Given the description of an element on the screen output the (x, y) to click on. 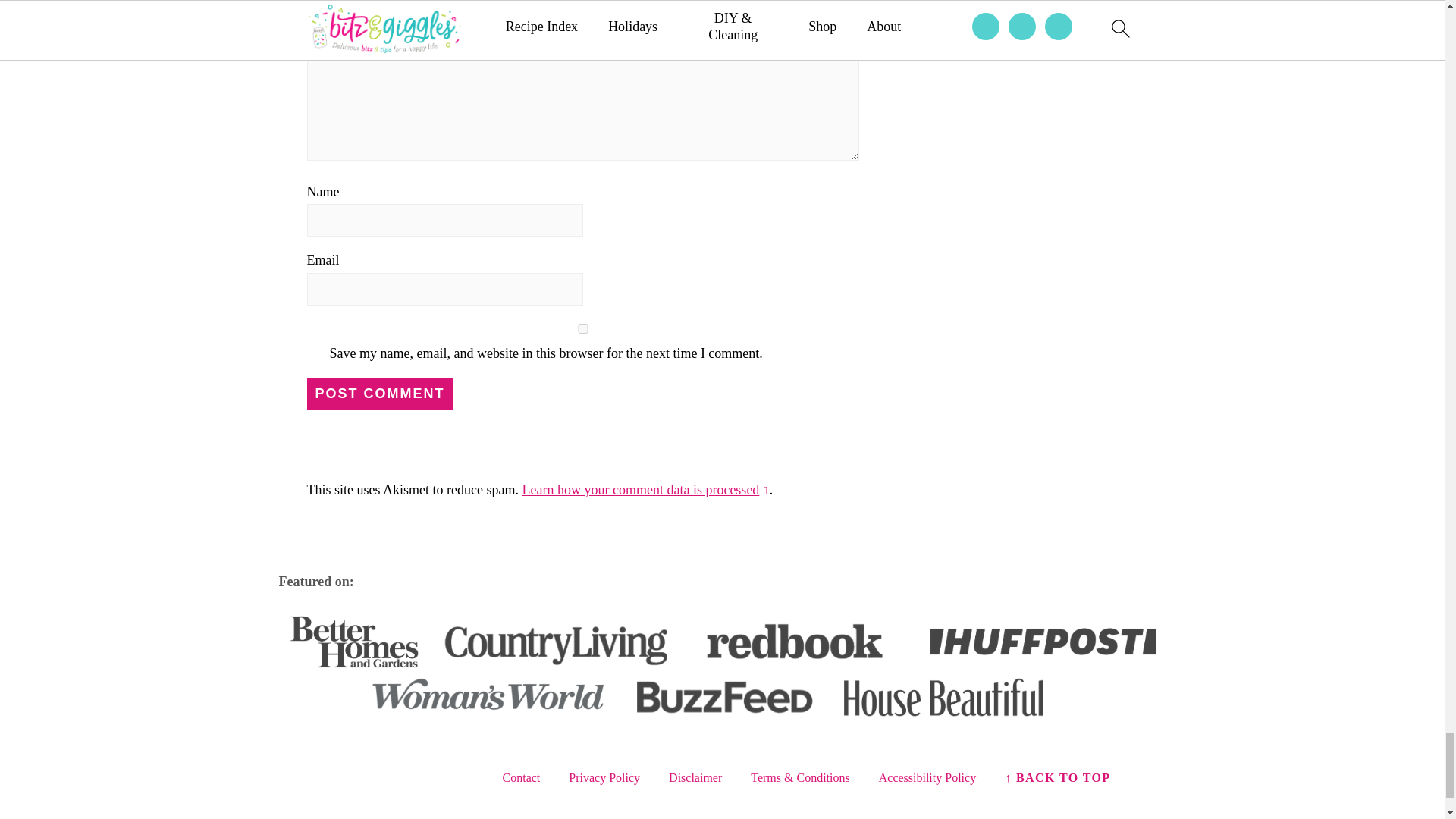
yes (582, 328)
Post Comment (378, 393)
